Given the description of an element on the screen output the (x, y) to click on. 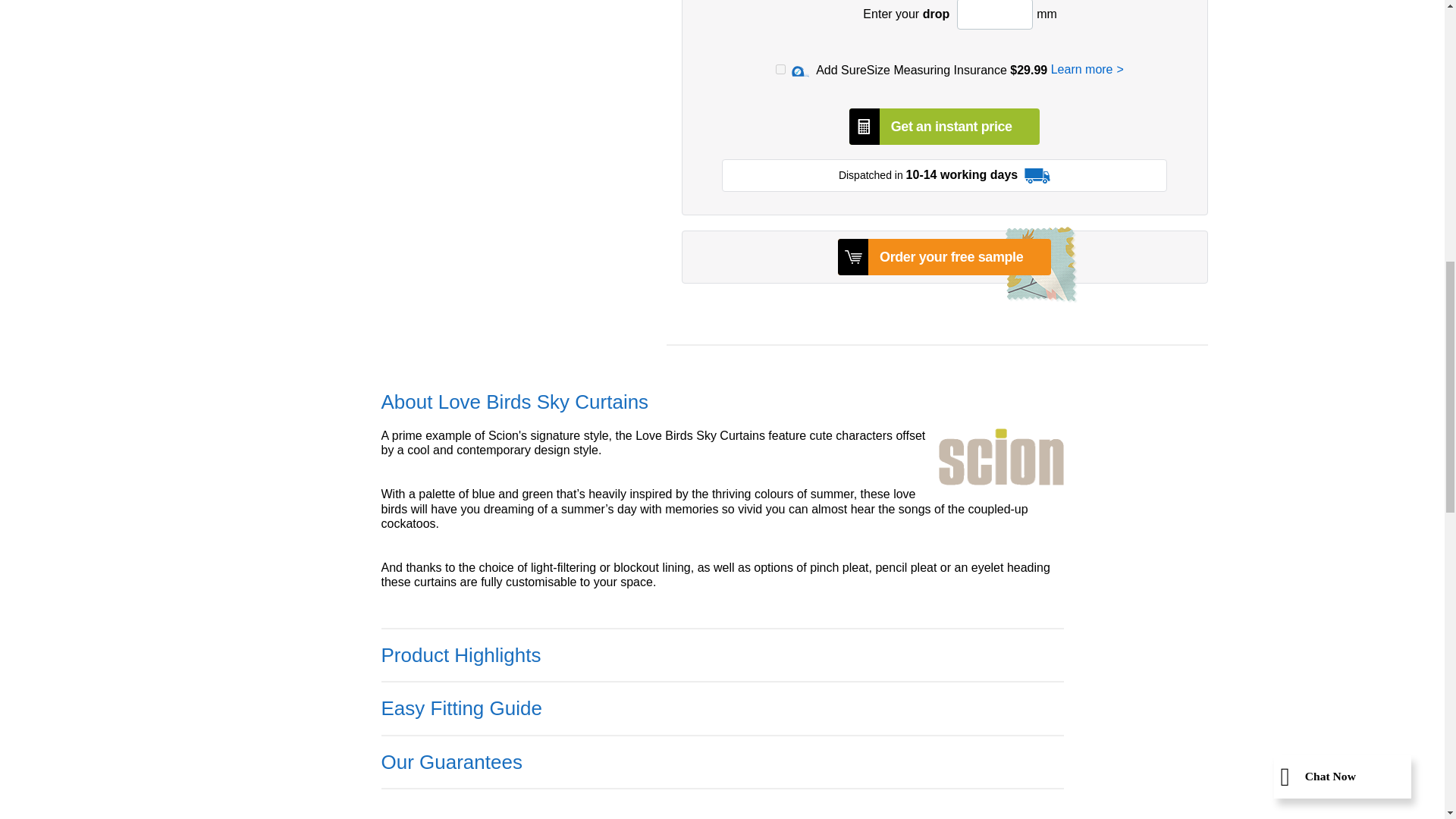
on (781, 69)
